Given the description of an element on the screen output the (x, y) to click on. 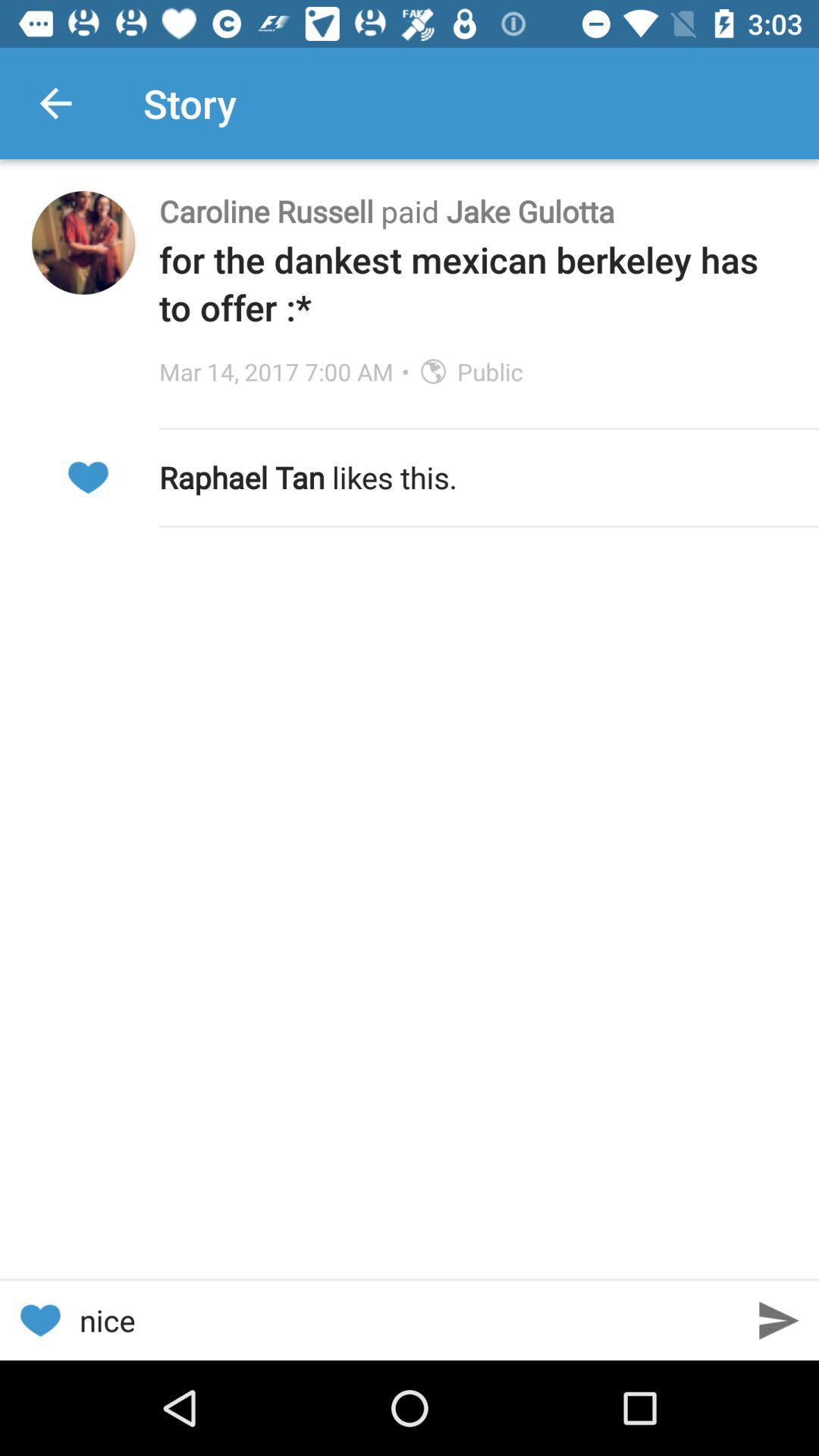
turn off icon to the left of the story (55, 103)
